Given the description of an element on the screen output the (x, y) to click on. 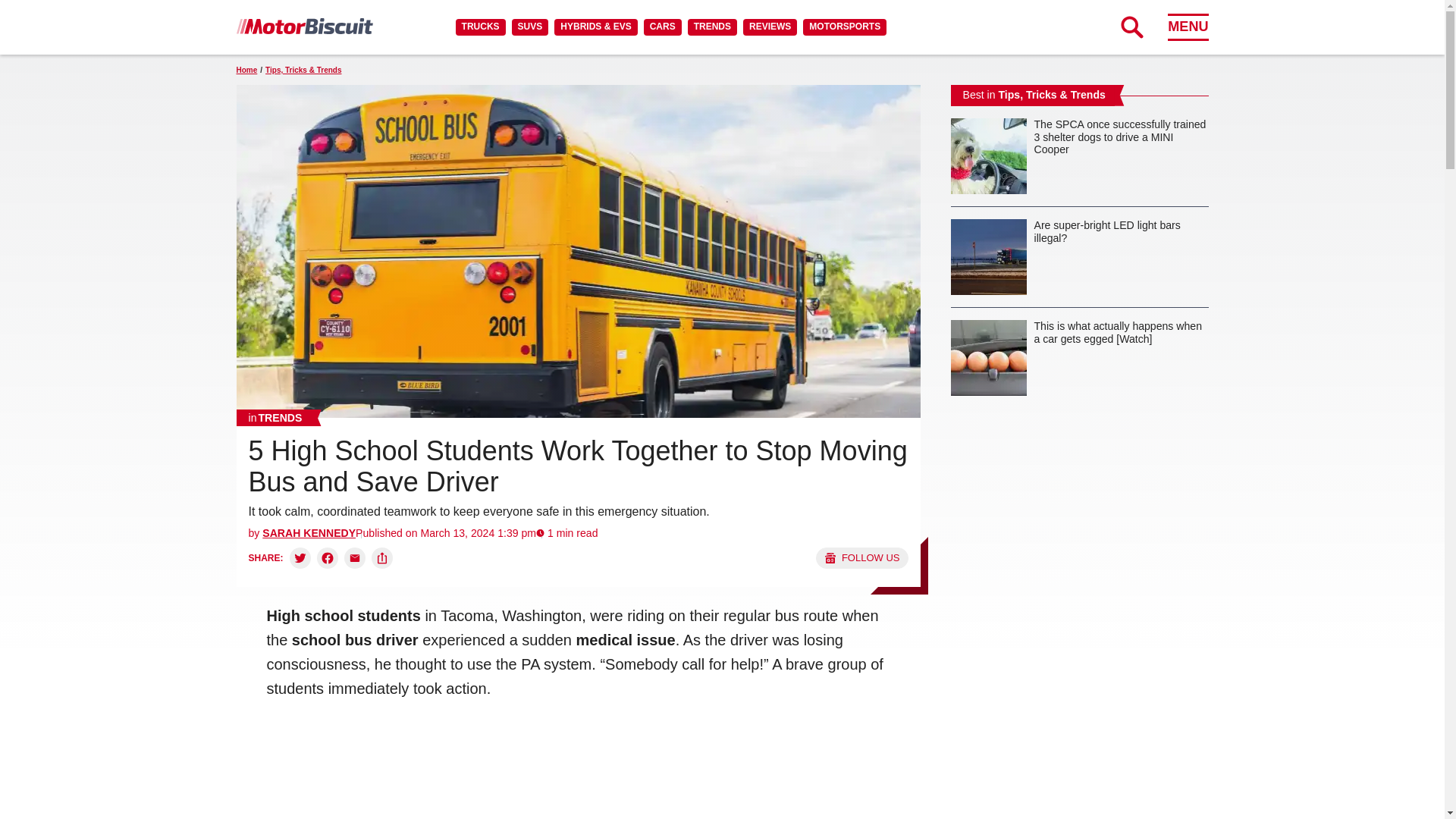
SUVS (530, 26)
MOTORSPORTS (844, 26)
Expand Search (1131, 26)
REVIEWS (769, 26)
MotorBiscuit (303, 26)
MENU (1187, 26)
TRUCKS (480, 26)
Copy link and share:  (382, 557)
Trends (274, 417)
